Given the description of an element on the screen output the (x, y) to click on. 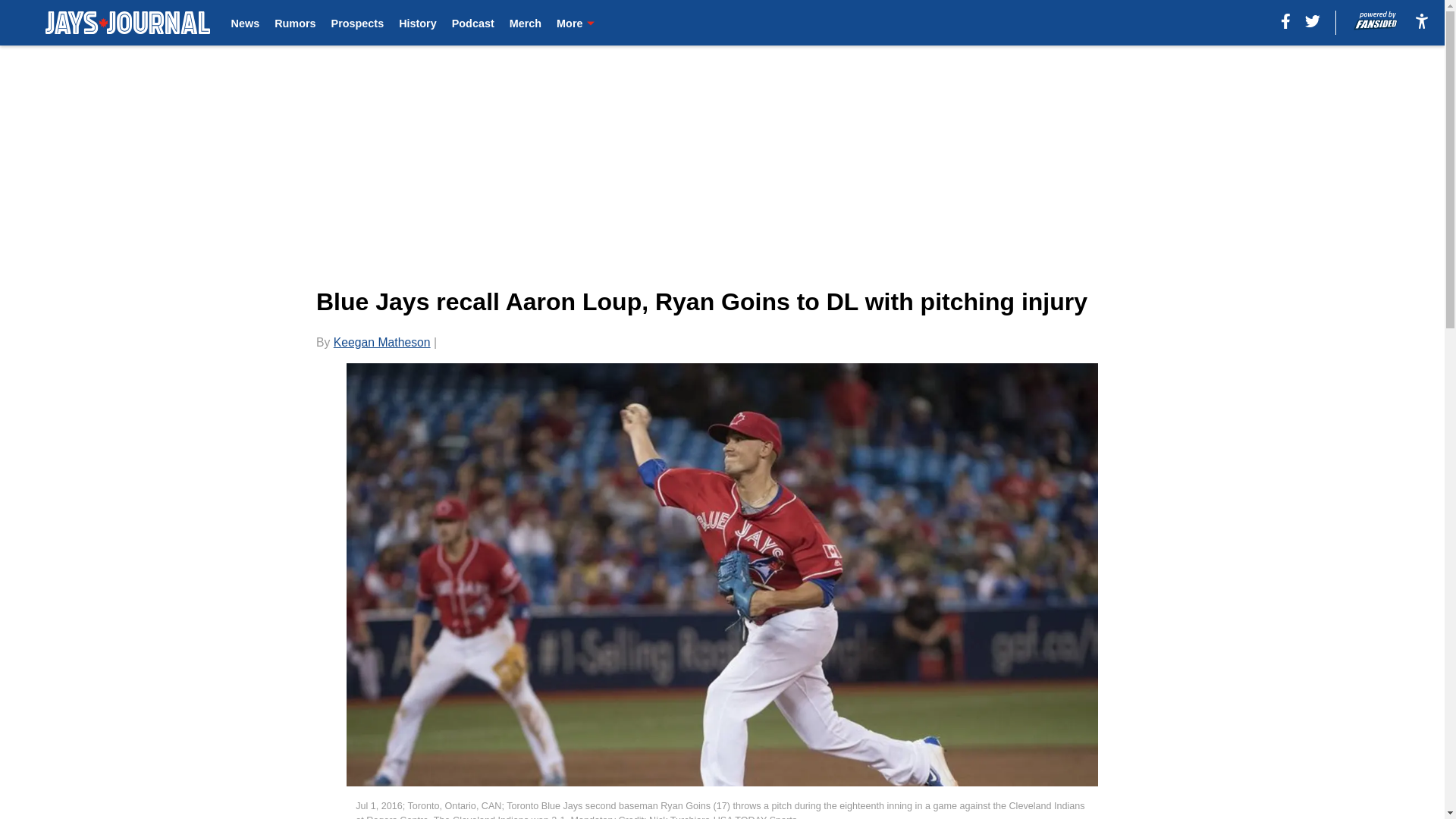
Keegan Matheson (381, 341)
Merch (525, 23)
News (245, 23)
Prospects (357, 23)
Podcast (473, 23)
History (417, 23)
Rumors (295, 23)
